Given the description of an element on the screen output the (x, y) to click on. 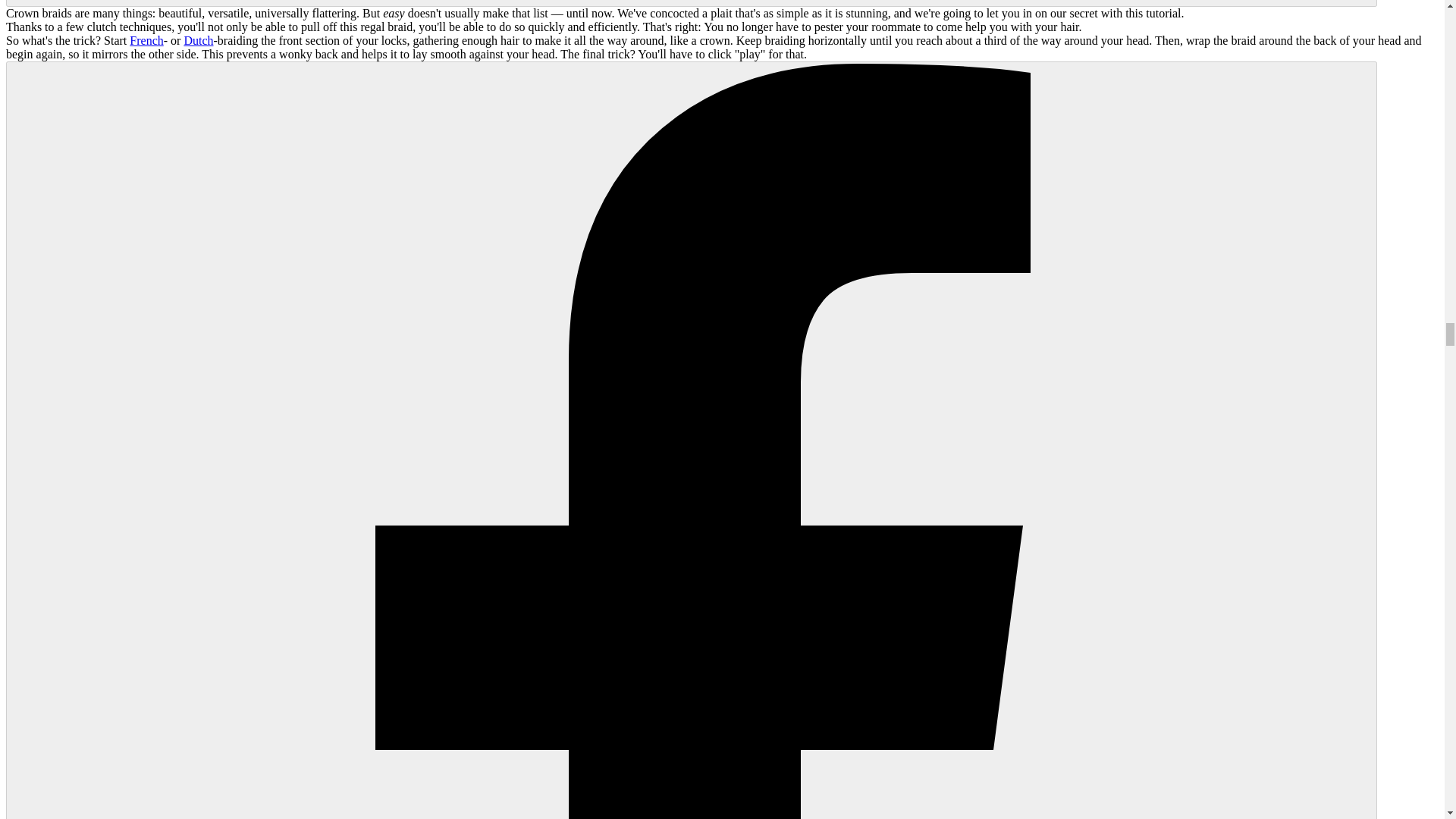
French (146, 40)
Dutch (197, 40)
